Given the description of an element on the screen output the (x, y) to click on. 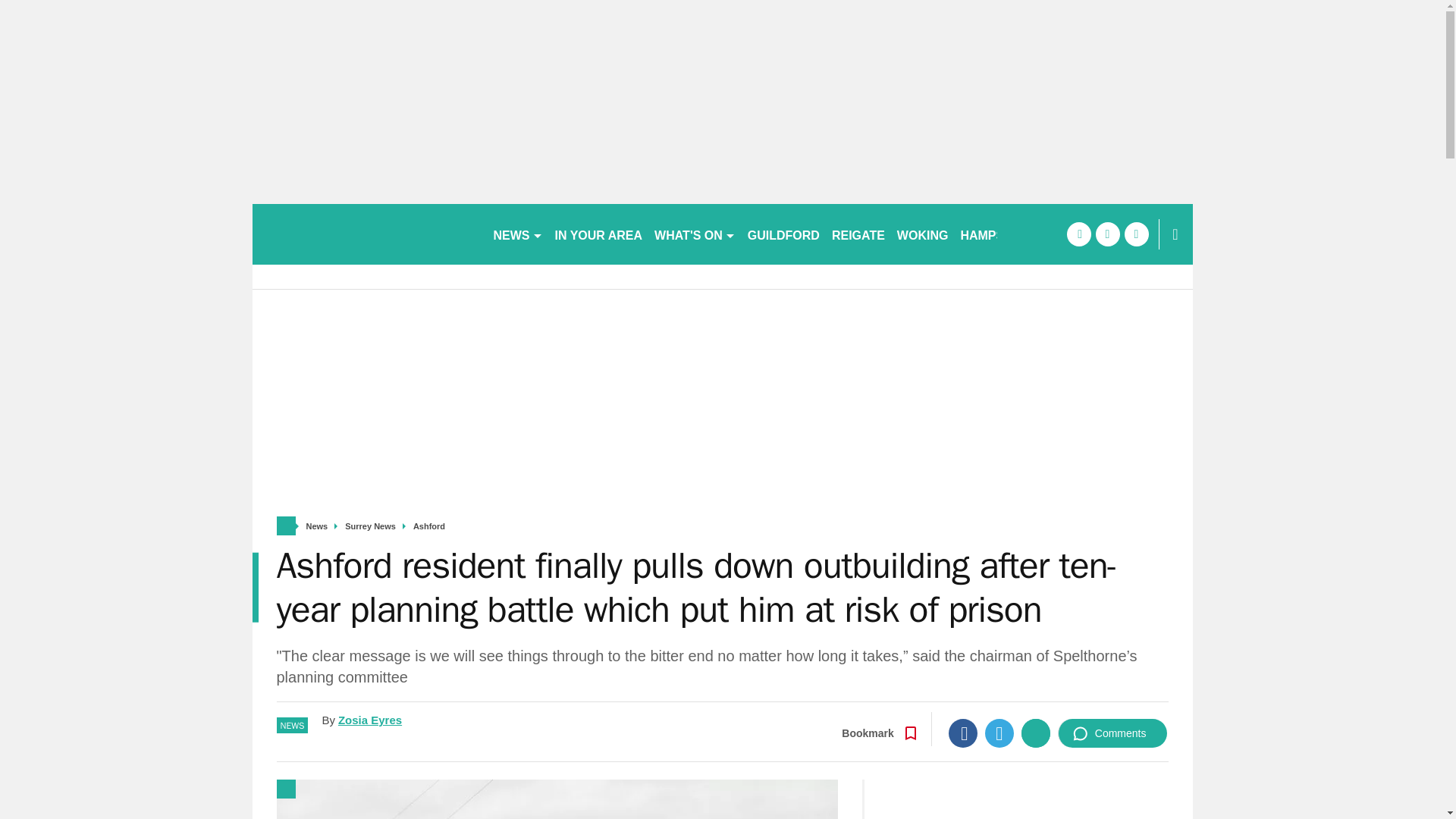
GUILDFORD (783, 233)
instagram (1136, 233)
Facebook (962, 733)
Twitter (999, 733)
REIGATE (858, 233)
WHAT'S ON (694, 233)
getsurrey (365, 233)
Comments (1112, 733)
IN YOUR AREA (598, 233)
NEWS (517, 233)
